Given the description of an element on the screen output the (x, y) to click on. 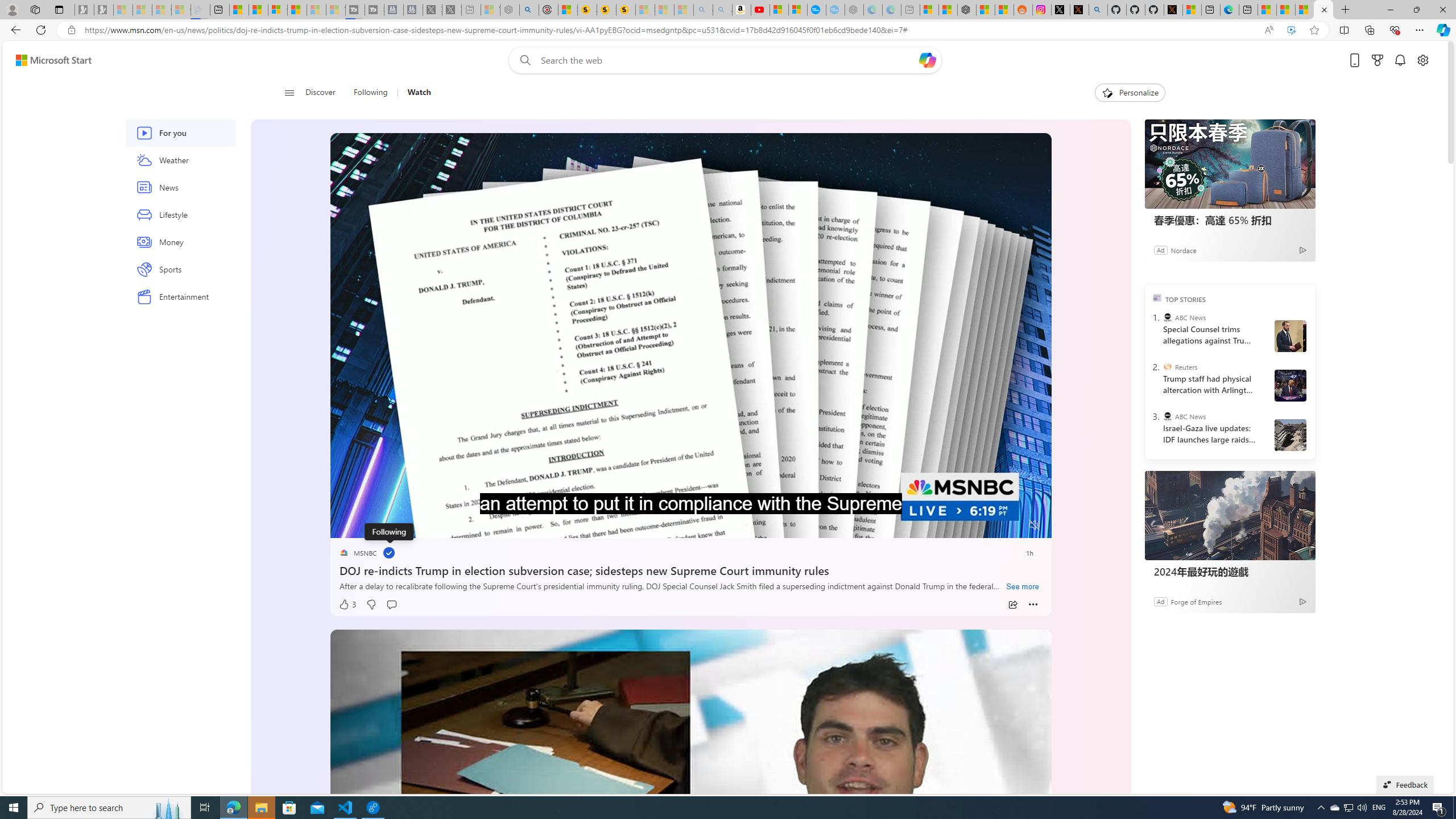
Enhance video (1291, 29)
Fullscreen (1013, 525)
The most popular Google 'how to' searches - Sleeping (835, 9)
Captions (989, 525)
3 Like (347, 604)
Seek Forward (392, 525)
X Privacy Policy (1173, 9)
Shanghai, China Weather trends | Microsoft Weather (1004, 9)
